Given the description of an element on the screen output the (x, y) to click on. 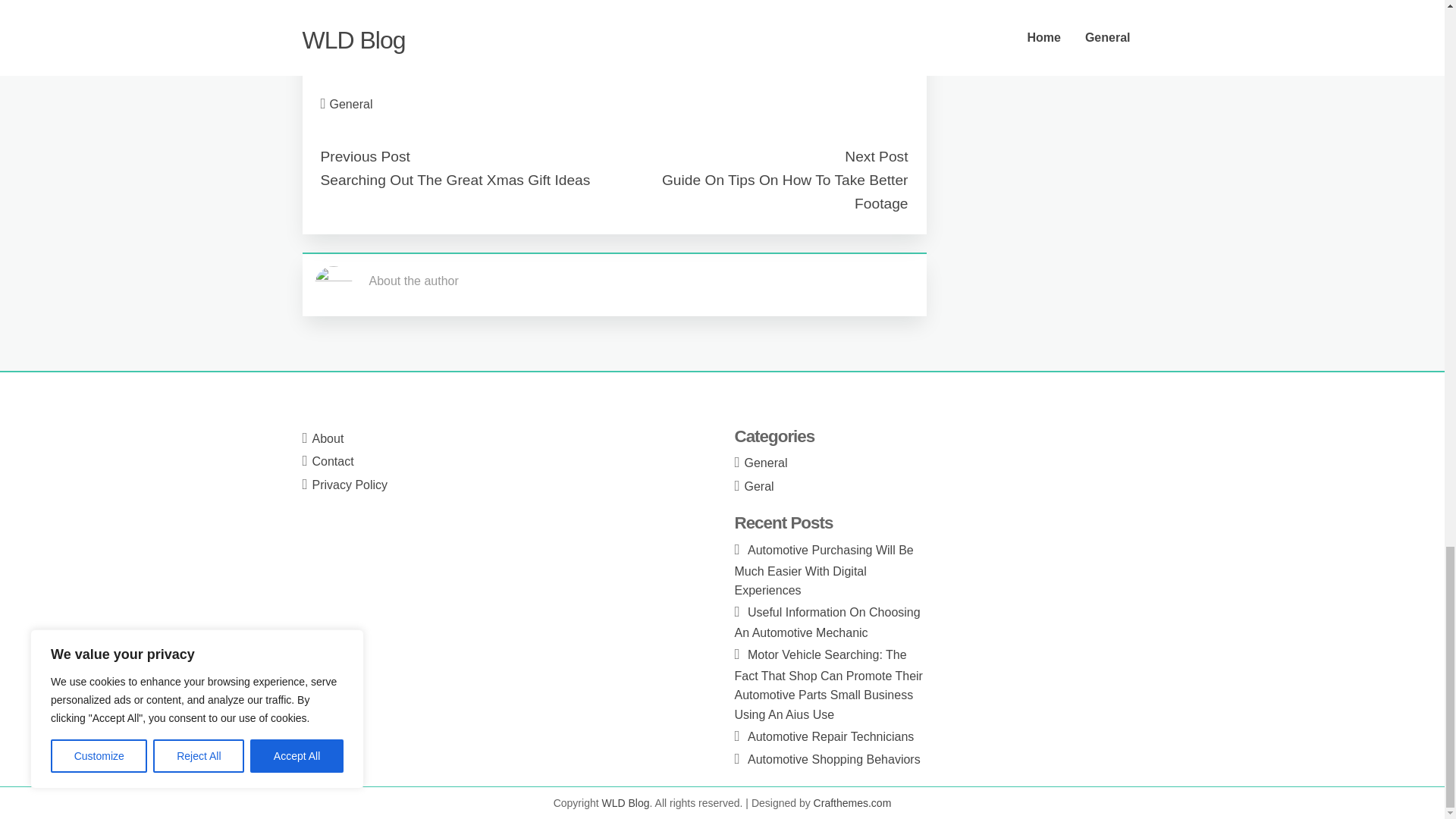
About (328, 438)
General (765, 462)
Guide On Tips On How To Take Better Footage (785, 191)
Contact (333, 461)
Geral (759, 486)
Useful Information On Choosing An Automotive Mechanic (826, 622)
Previous Post (364, 156)
Automotive Repair Technicians (831, 736)
